Given the description of an element on the screen output the (x, y) to click on. 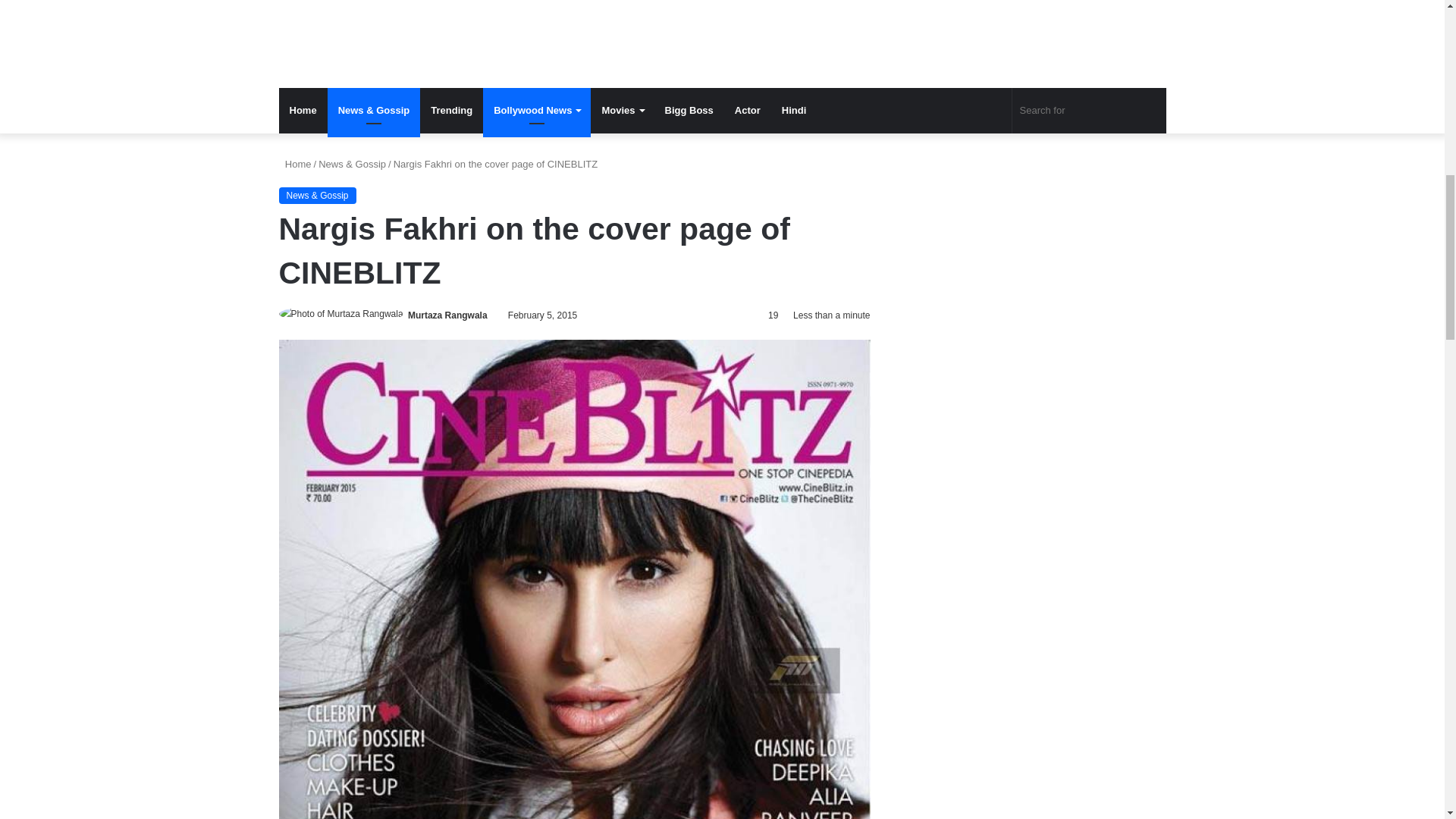
Search for (1088, 110)
Trending (451, 110)
Actor (747, 110)
Movies (622, 110)
Bollywood News (537, 110)
Home (303, 110)
Filmymantra (688, 28)
Home (295, 163)
Hindi (793, 110)
Murtaza Rangwala (447, 315)
Murtaza Rangwala (447, 315)
Bigg Boss (688, 110)
